Given the description of an element on the screen output the (x, y) to click on. 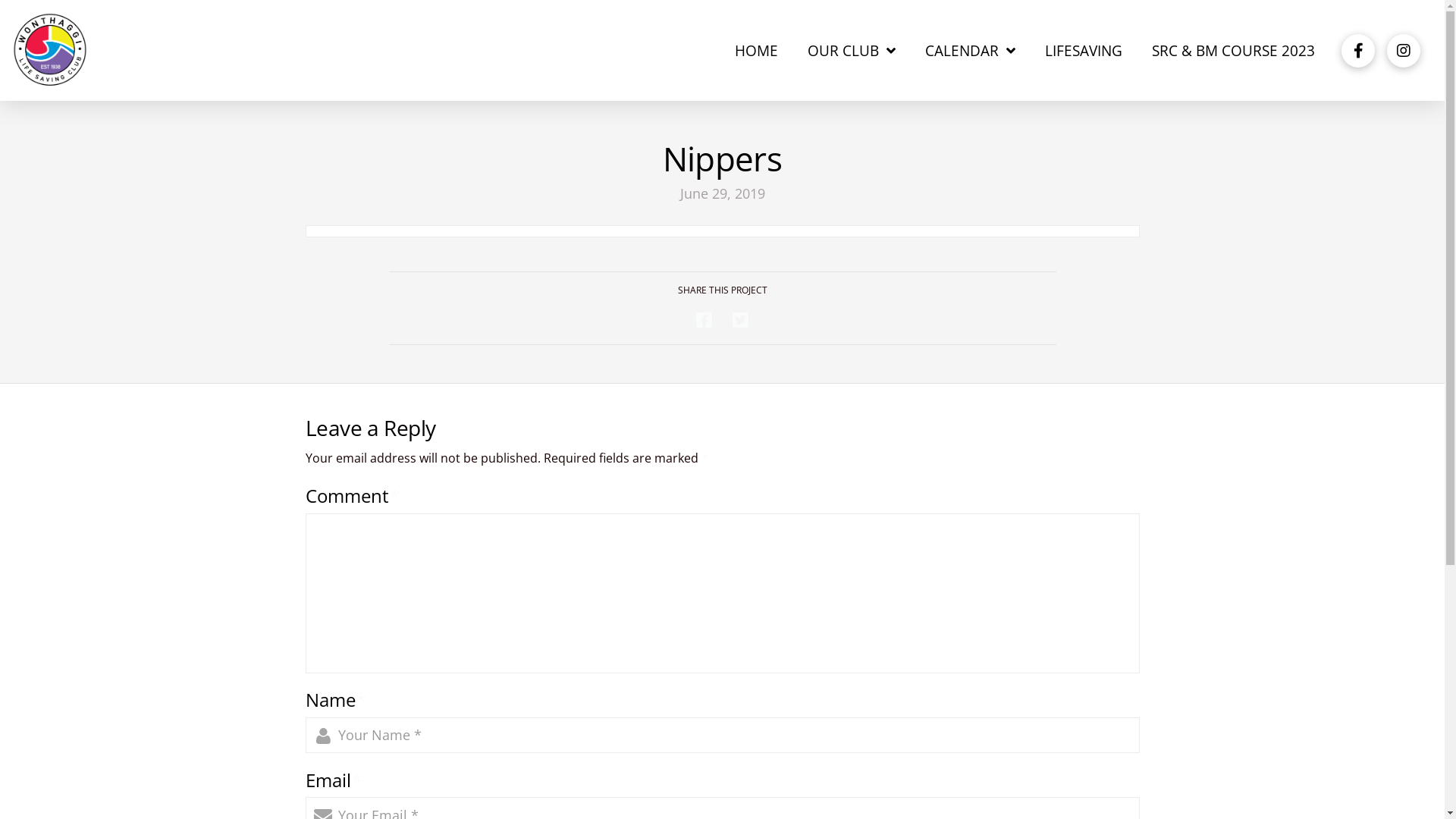
OUR CLUB Element type: text (851, 50)
CALENDAR Element type: text (970, 50)
HOME Element type: text (756, 50)
LIFESAVING Element type: text (1082, 50)
SRC & BM COURSE 2023 Element type: text (1232, 50)
